Given the description of an element on the screen output the (x, y) to click on. 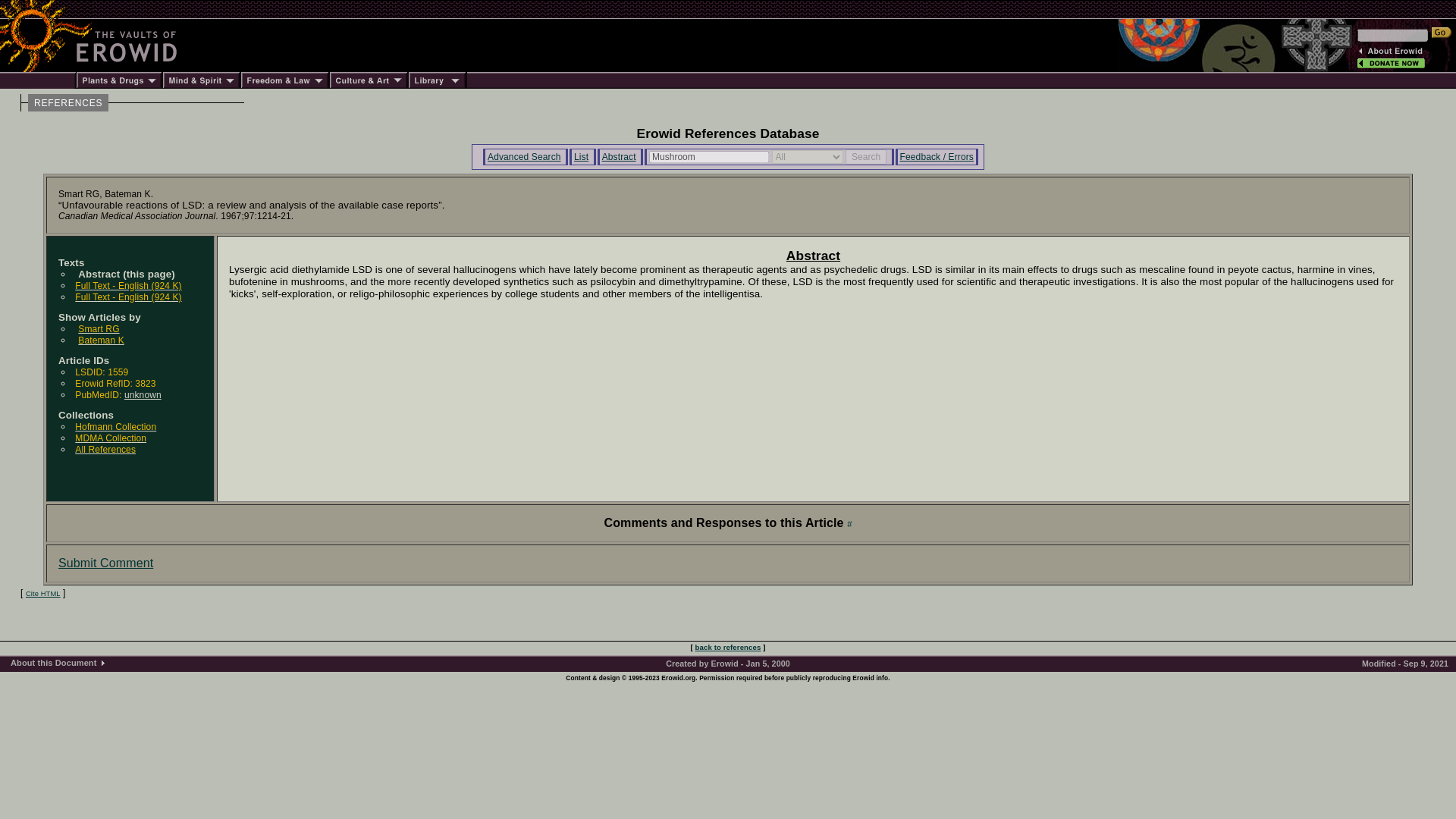
Mushroom (708, 156)
Search (865, 156)
Mushroom (708, 156)
Search (865, 156)
